Given the description of an element on the screen output the (x, y) to click on. 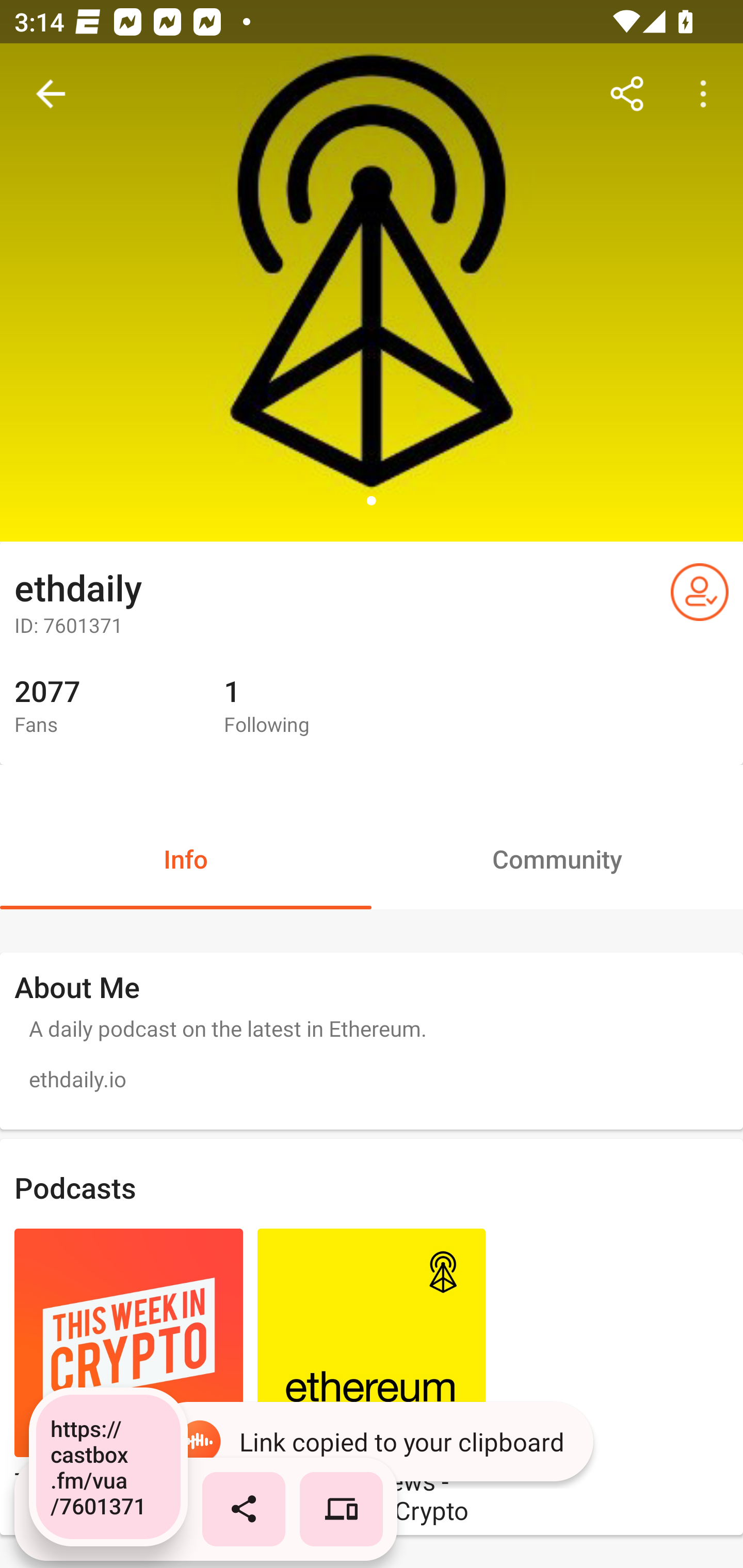
Navigate up (50, 93)
Share (626, 93)
More options (706, 93)
2077 Fans (104, 707)
1 Following (313, 707)
Info (185, 858)
Community (557, 858)
This Week in Crypto (128, 1378)
Ethereum News - DeFi, Web3, Crypto (371, 1378)
